Given the description of an element on the screen output the (x, y) to click on. 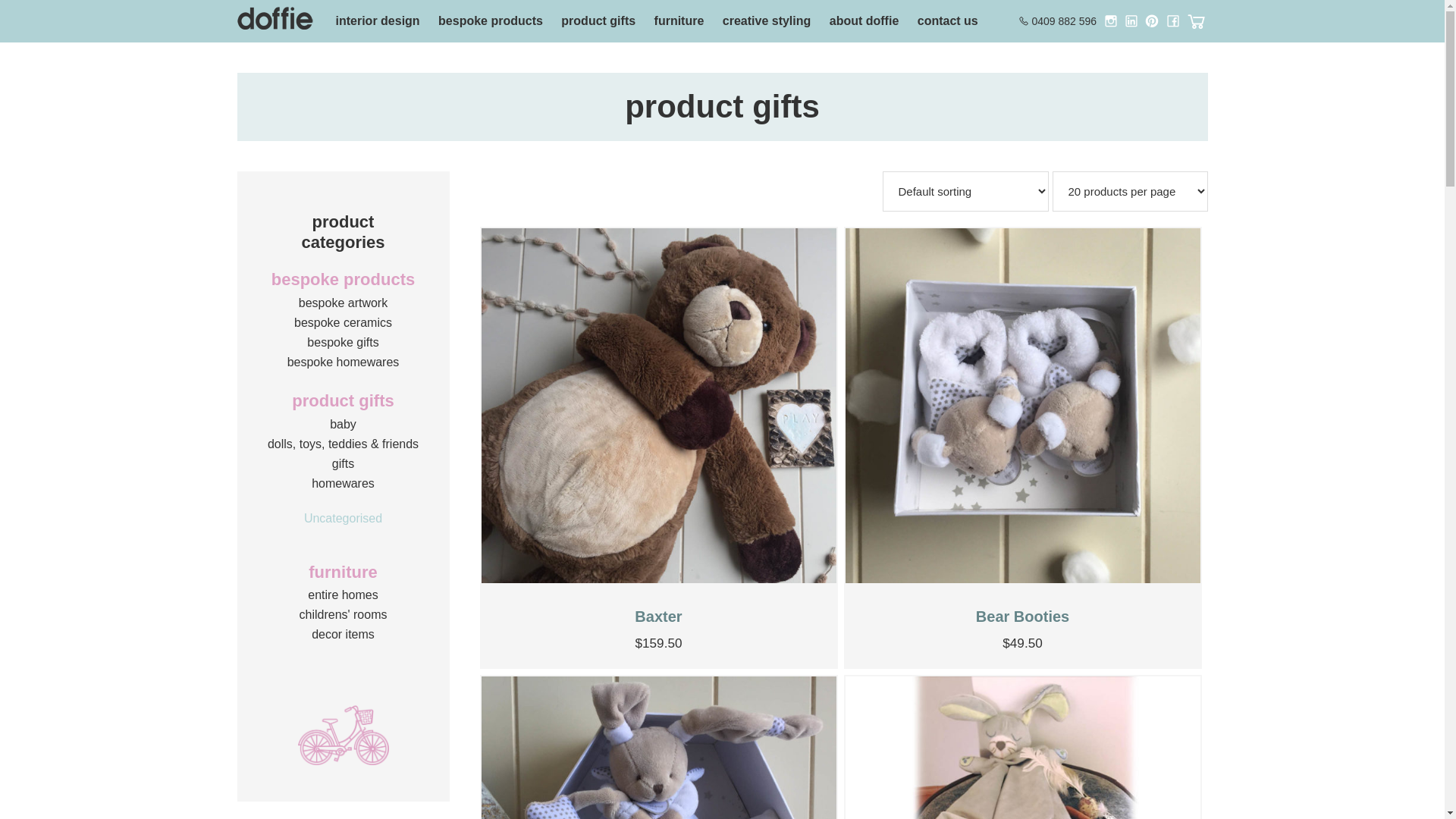
interior design Element type: text (376, 21)
gifts Element type: text (343, 463)
childrens' rooms Element type: text (342, 614)
homewares Element type: text (342, 482)
bespoke products Element type: text (342, 278)
Bear Booties
$49.50 Element type: text (1022, 447)
doffie Element type: hover (274, 21)
Uncategorised Element type: text (343, 517)
decor items Element type: text (342, 633)
0409 882 596 Element type: text (1063, 21)
bespoke ceramics Element type: text (343, 322)
product gifts Element type: text (598, 21)
Baxter
$159.50 Element type: text (658, 447)
bespoke artwork Element type: text (342, 302)
bespoke gifts Element type: text (342, 341)
baby Element type: text (342, 423)
bespoke homewares Element type: text (343, 361)
creative styling Element type: text (767, 21)
bespoke products Element type: text (490, 21)
contact us Element type: text (947, 21)
about doffie Element type: text (864, 21)
furniture Element type: text (679, 21)
dolls, toys, teddies & friends Element type: text (342, 443)
Skip to main content Element type: text (0, 0)
furniture Element type: text (342, 571)
entire homes Element type: text (342, 594)
product gifts Element type: text (342, 400)
